Given the description of an element on the screen output the (x, y) to click on. 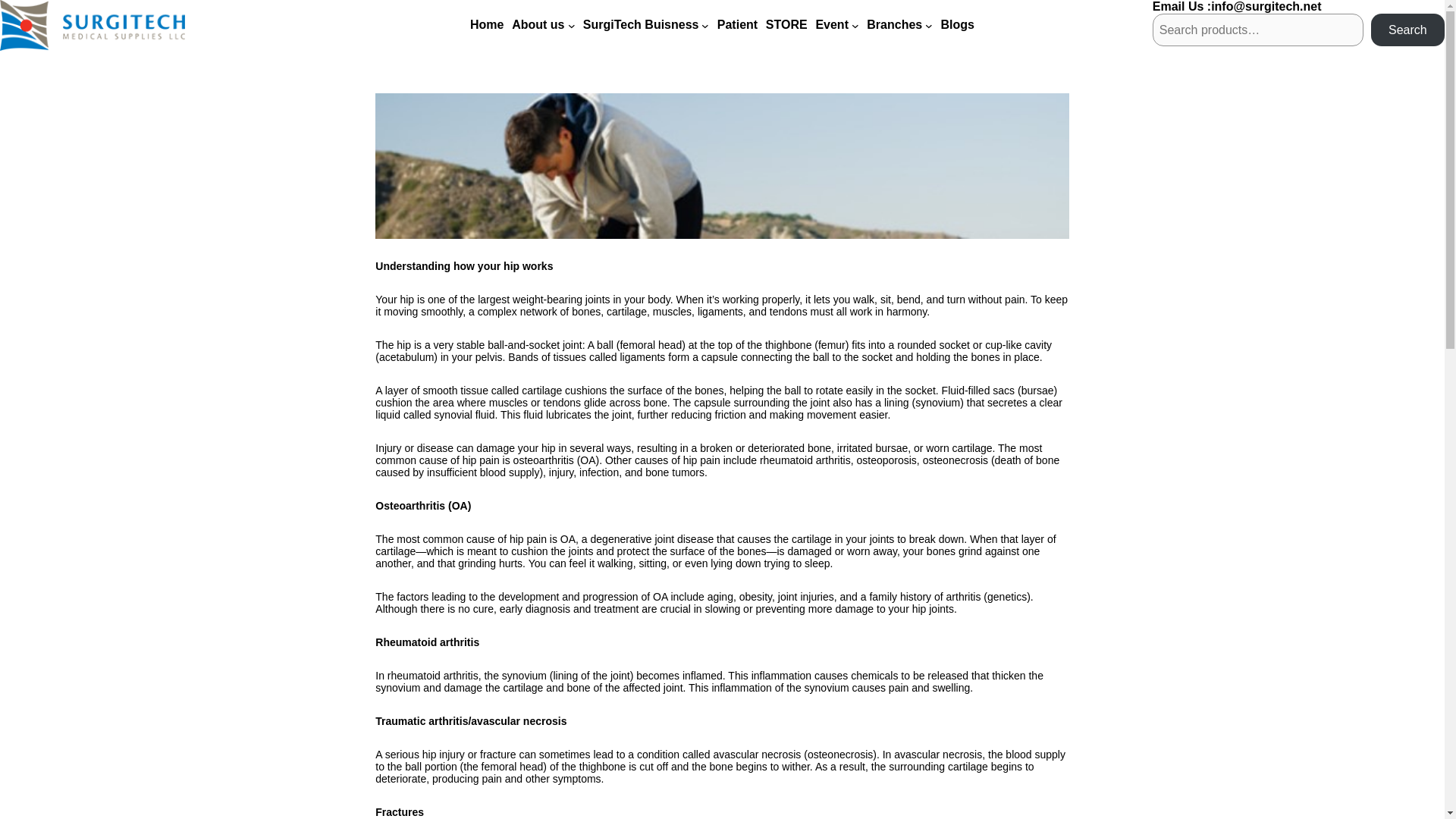
Event (831, 24)
About us (538, 24)
STORE (786, 24)
Branches (893, 24)
Home (486, 24)
SurgiTech Buisness (640, 24)
Blogs (957, 24)
Patient (737, 24)
